Given the description of an element on the screen output the (x, y) to click on. 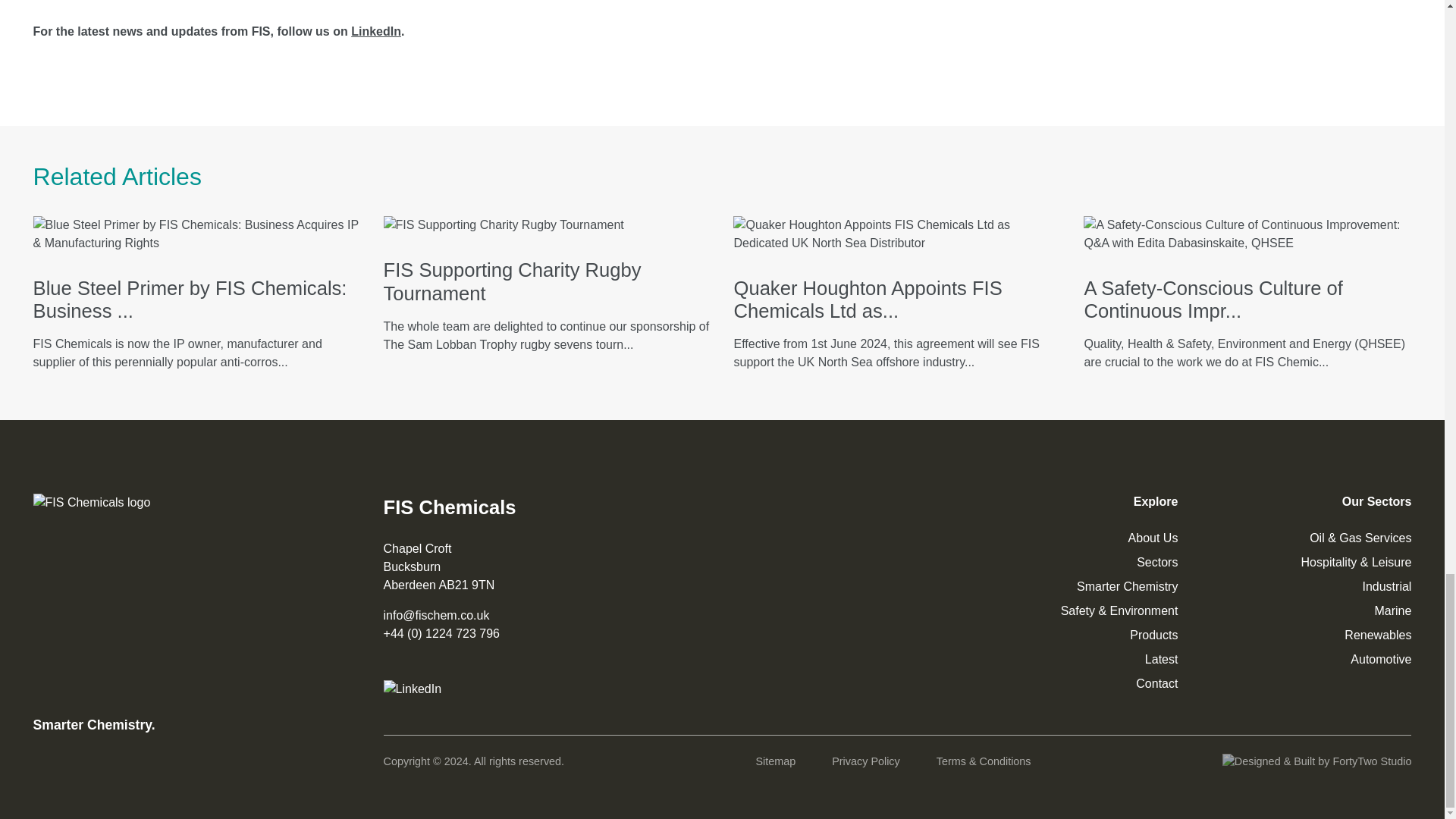
Marine (1392, 610)
Latest (1160, 658)
Products (1153, 634)
About Us (1152, 537)
Industrial (1385, 585)
Smarter Chemistry (1127, 585)
Sectors (1157, 562)
Contact (1156, 683)
